Given the description of an element on the screen output the (x, y) to click on. 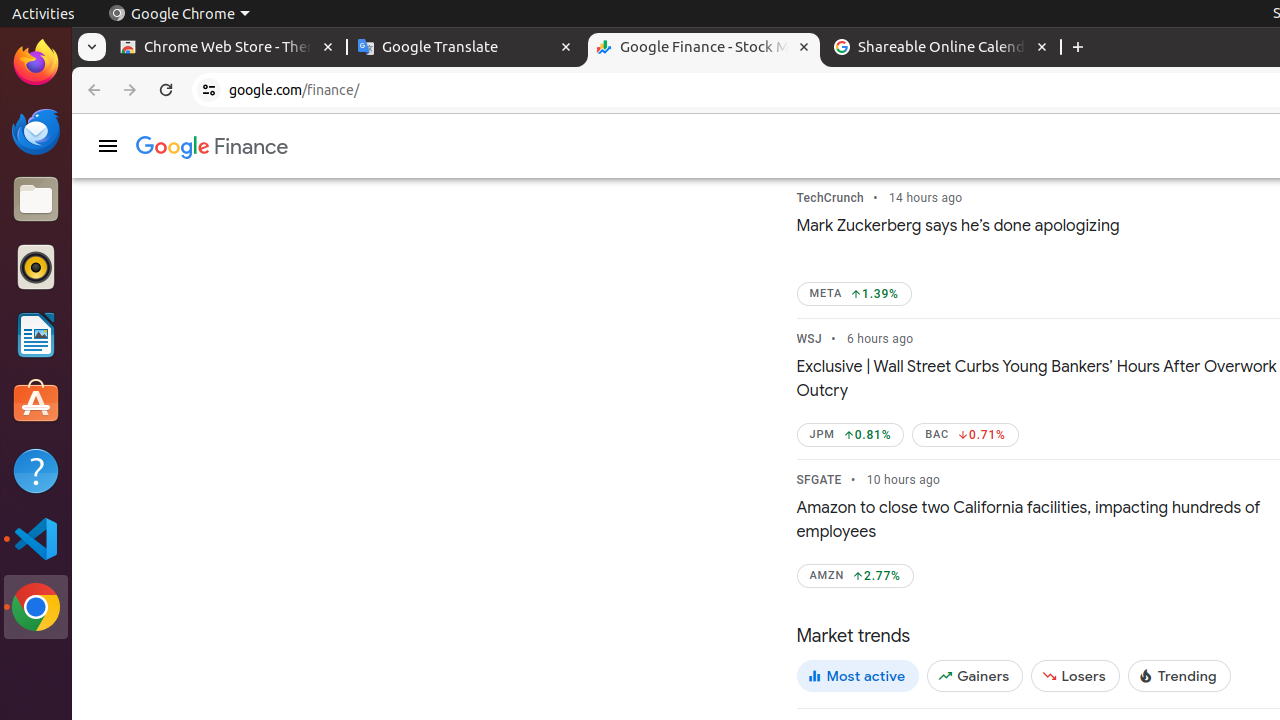
Gainers Element type: page-tab (975, 676)
View site information Element type: push-button (209, 90)
Google Chrome Element type: push-button (36, 607)
